Given the description of an element on the screen output the (x, y) to click on. 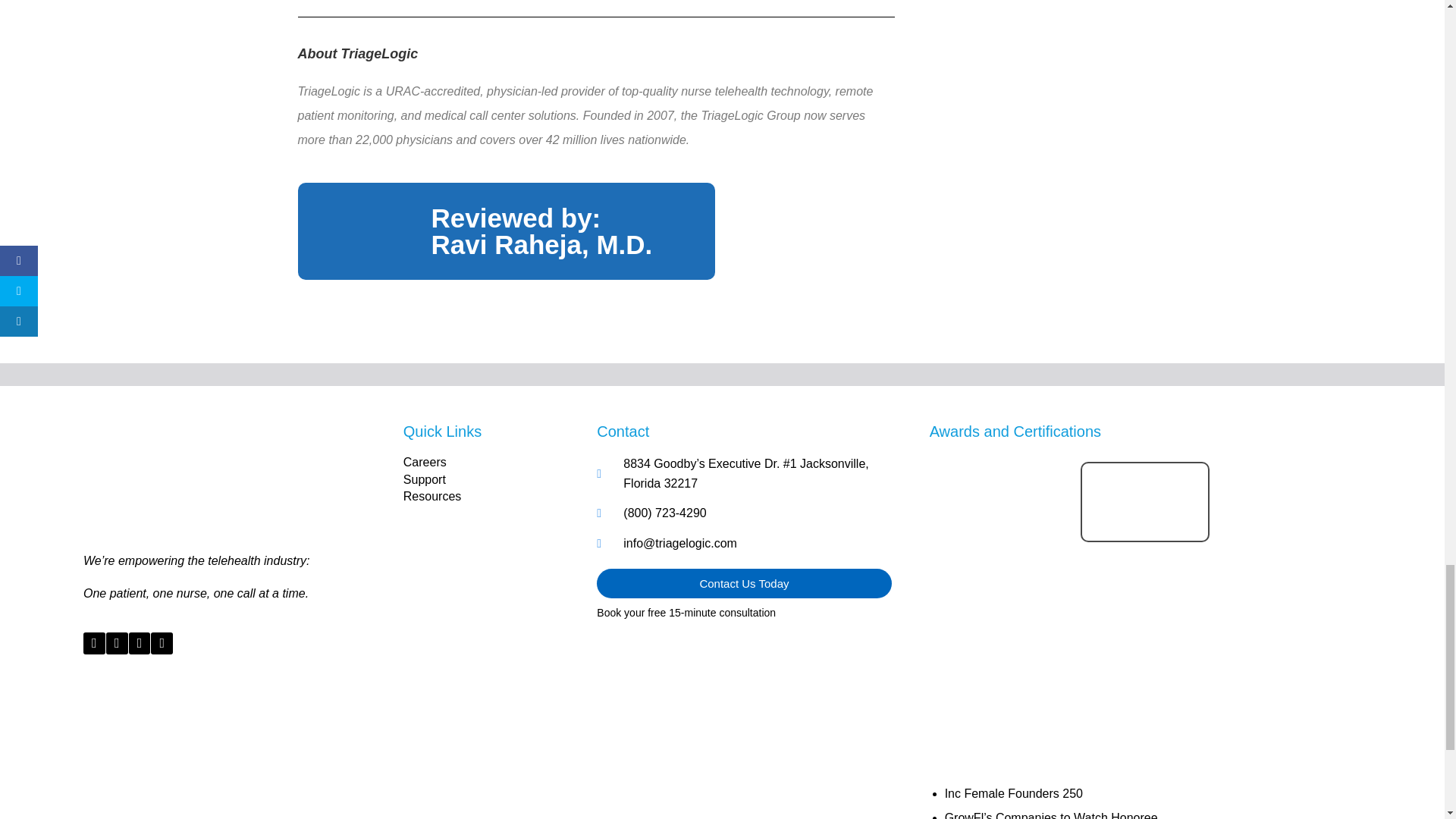
MBE (1001, 518)
wbenc-logo-2 (1144, 595)
URAC Seal 2023 (1001, 654)
